Given the description of an element on the screen output the (x, y) to click on. 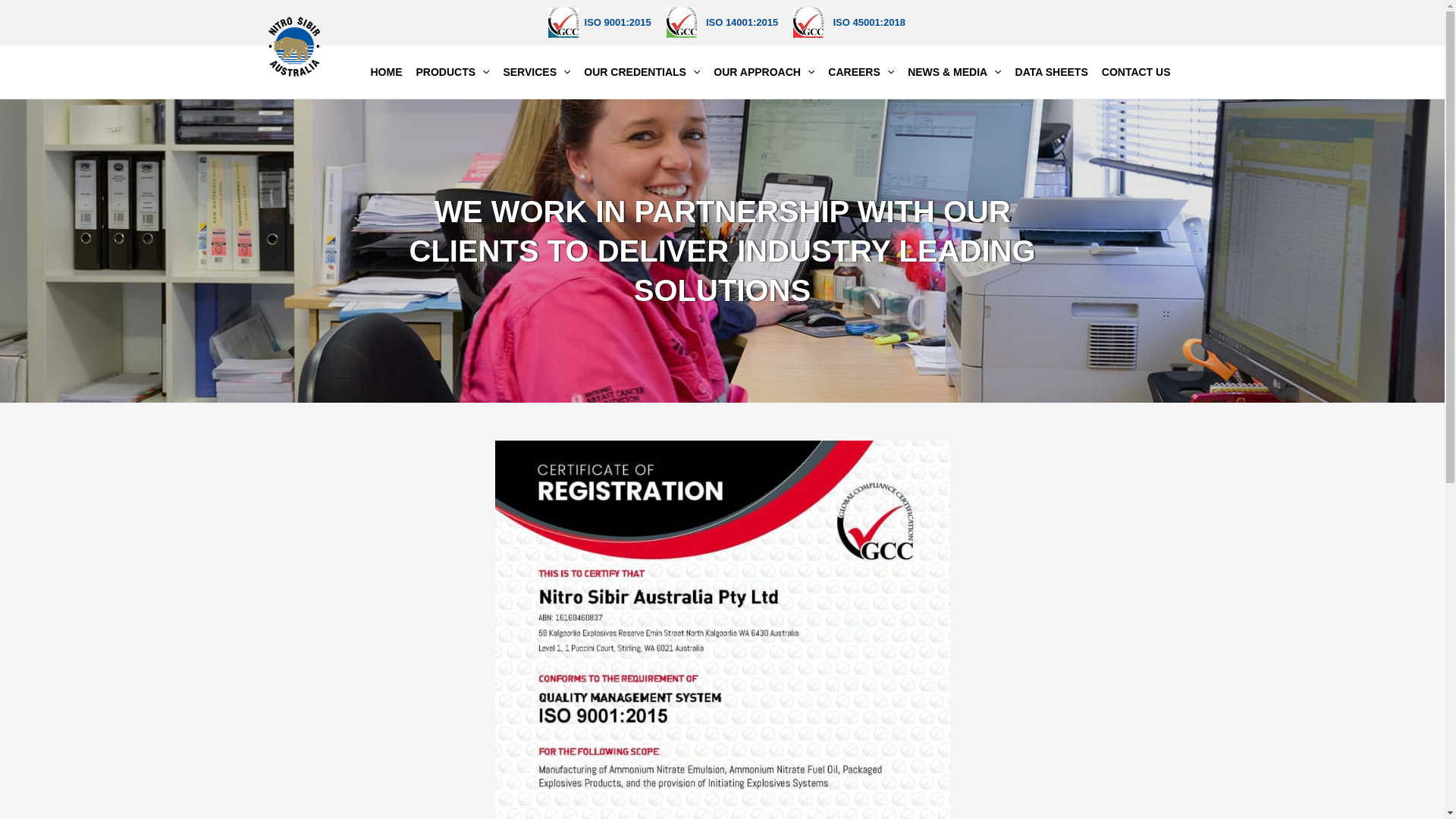
PRODUCTS Element type: text (451, 71)
DATA SHEETS Element type: text (1051, 71)
CONTACT US Element type: text (1136, 71)
ISO 14001:2015 Element type: text (722, 21)
CAREERS Element type: text (860, 71)
ISO 45001:2018 Element type: text (849, 21)
HOME Element type: text (385, 71)
OUR APPROACH Element type: text (763, 71)
OUR CREDENTIALS Element type: text (641, 71)
NEWS & MEDIA Element type: text (953, 71)
ISO 9001:2015 Element type: text (599, 21)
SERVICES Element type: text (536, 71)
